Given the description of an element on the screen output the (x, y) to click on. 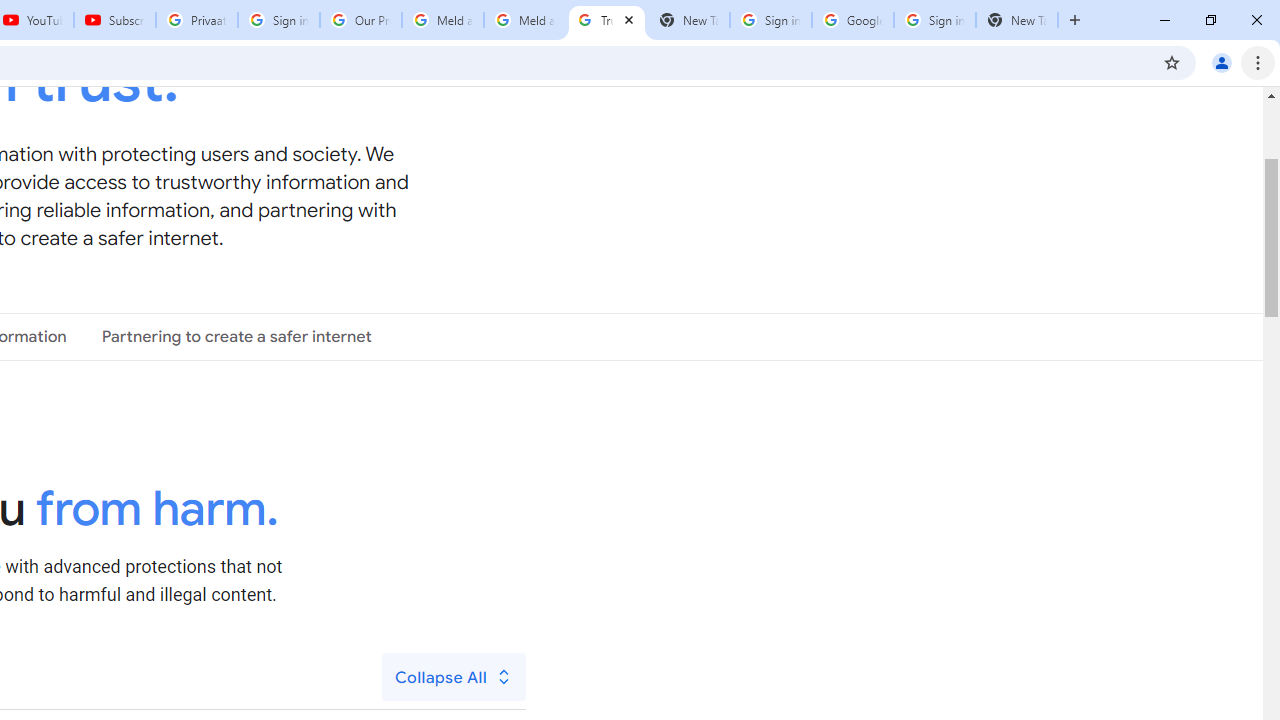
Trusted Information and Content - Google Safety Center (606, 20)
Sign in - Google Accounts (278, 20)
Collapse All (454, 677)
Subscriptions - YouTube (115, 20)
Sign in - Google Accounts (934, 20)
